Given the description of an element on the screen output the (x, y) to click on. 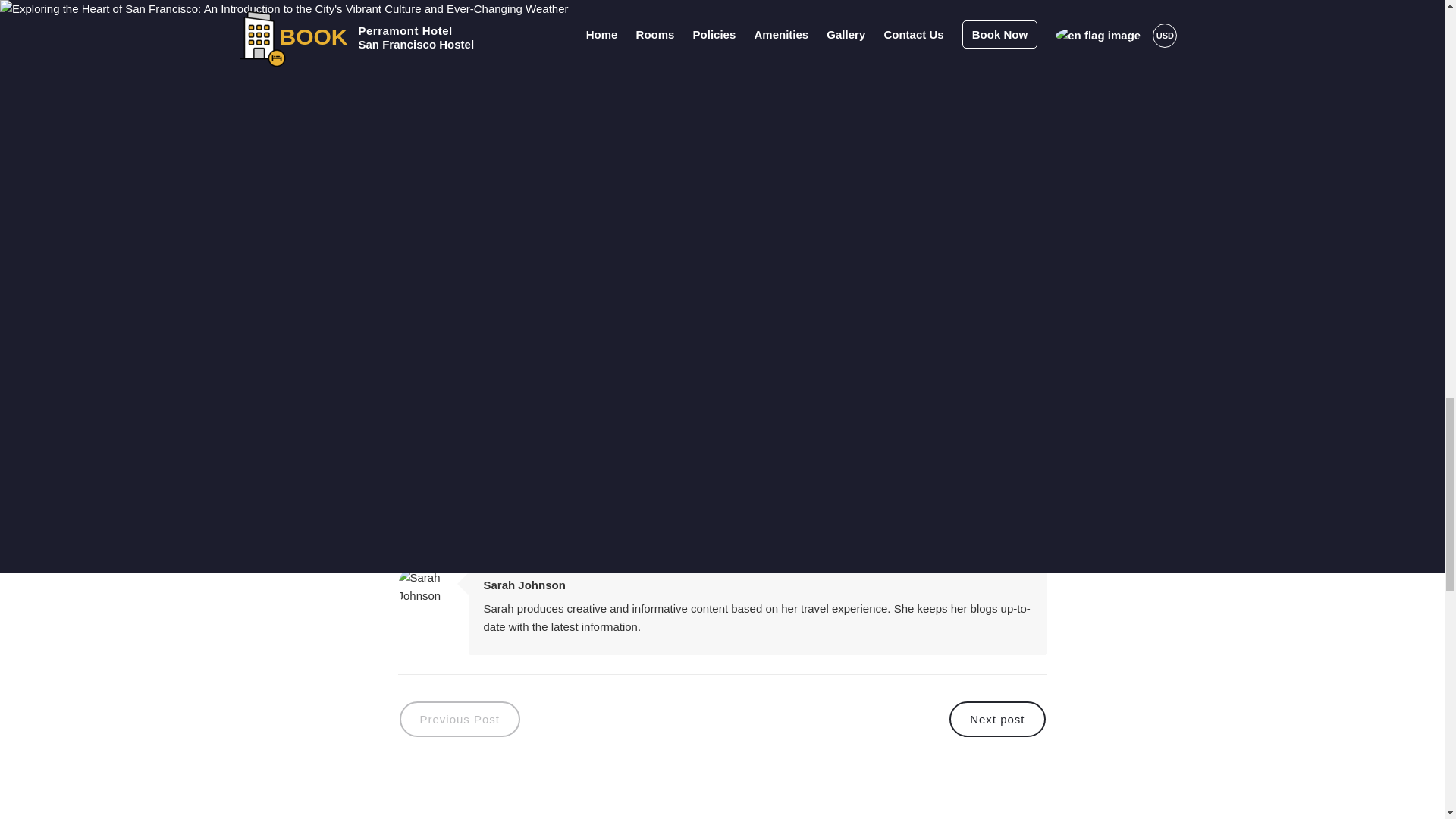
Weather Patterns (625, 420)
Vibrant Neighborhoods (461, 458)
Next post (883, 718)
San Francisco (440, 420)
Sarah Johnson (524, 584)
City Culture (529, 420)
Previous Post (560, 718)
Microclimates (725, 420)
